Given the description of an element on the screen output the (x, y) to click on. 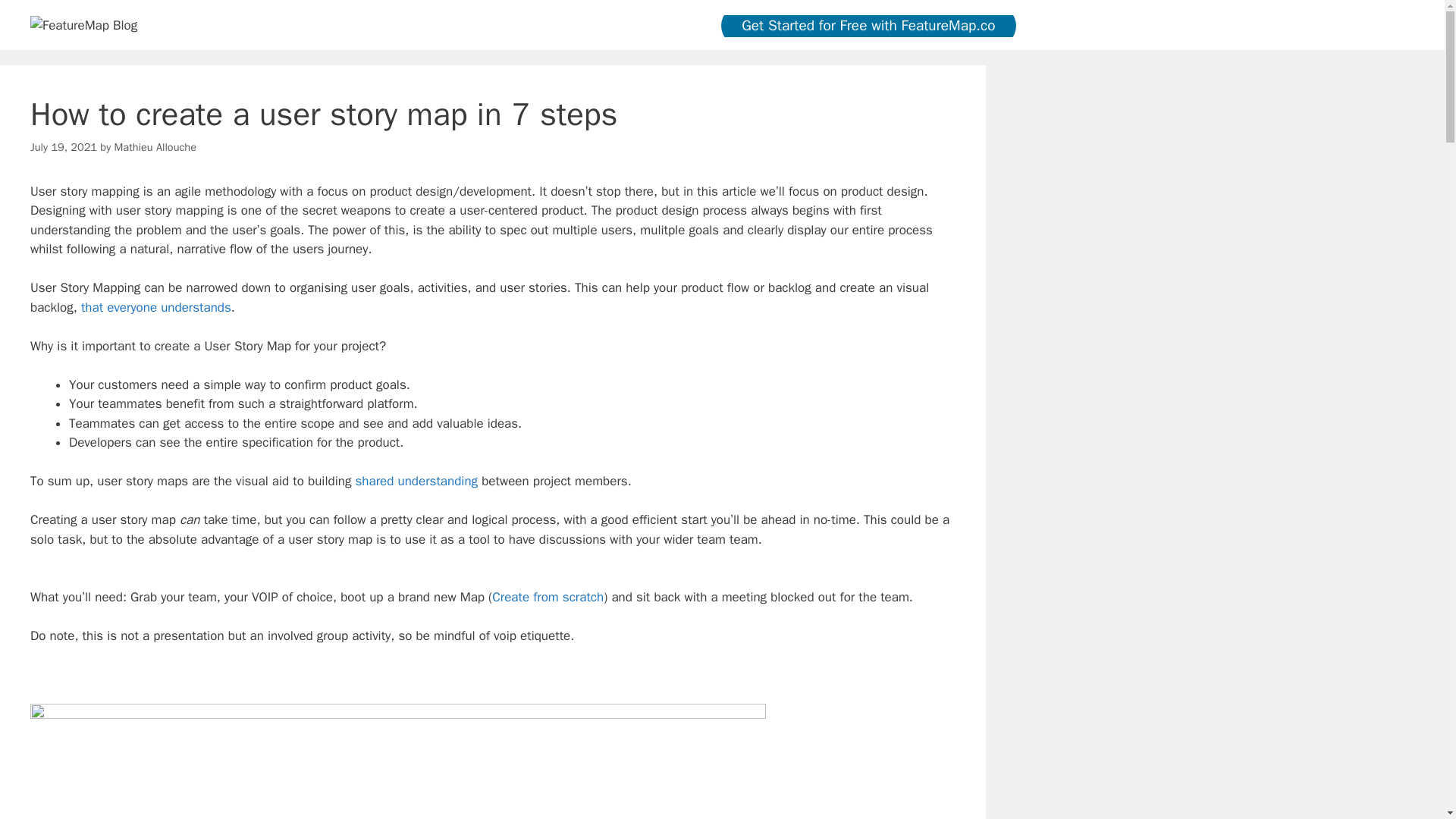
Home (80, 72)
Search (35, 18)
that everyone understands (156, 307)
Contact (296, 72)
Blog (25, 72)
shared understanding (416, 480)
Mathieu Allouche (155, 146)
Sign Up (146, 72)
Create from scratch (548, 596)
Get Started for Free with FeatureMap.co (868, 24)
